Given the description of an element on the screen output the (x, y) to click on. 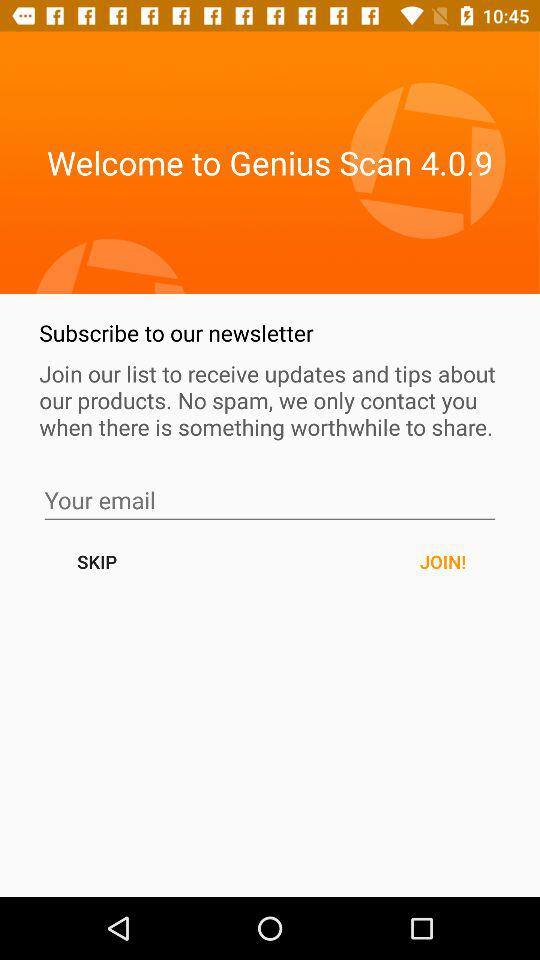
select the button next to skip icon (442, 561)
